Given the description of an element on the screen output the (x, y) to click on. 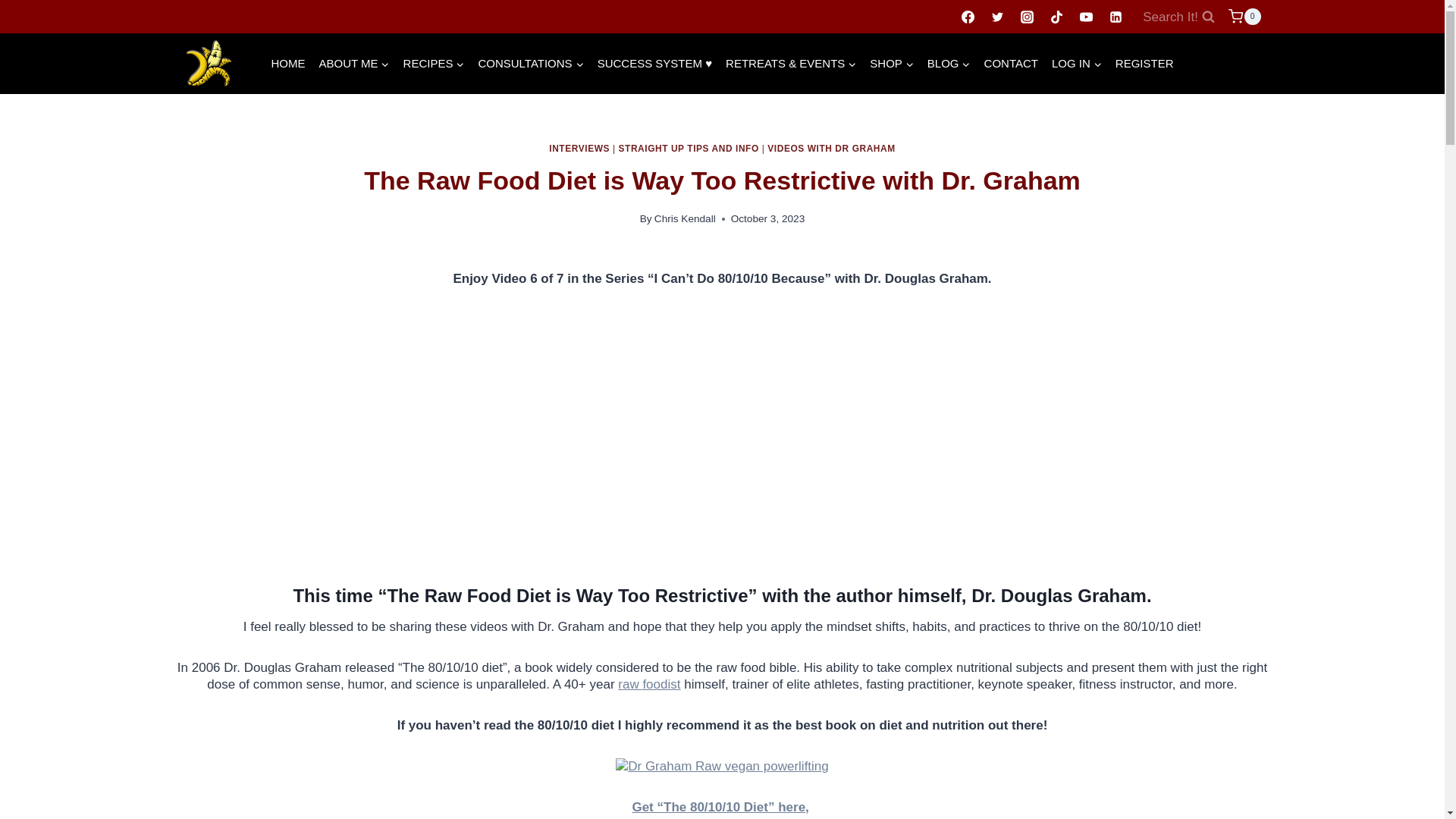
HOME (288, 63)
YouTube video player (721, 431)
Is it TOO Expensive to Be Raw Vegan? 5 (721, 766)
Search It! (1179, 16)
CONSULTATIONS (529, 63)
RECIPES (433, 63)
ABOUT ME (354, 63)
0 (1244, 16)
